Given the description of an element on the screen output the (x, y) to click on. 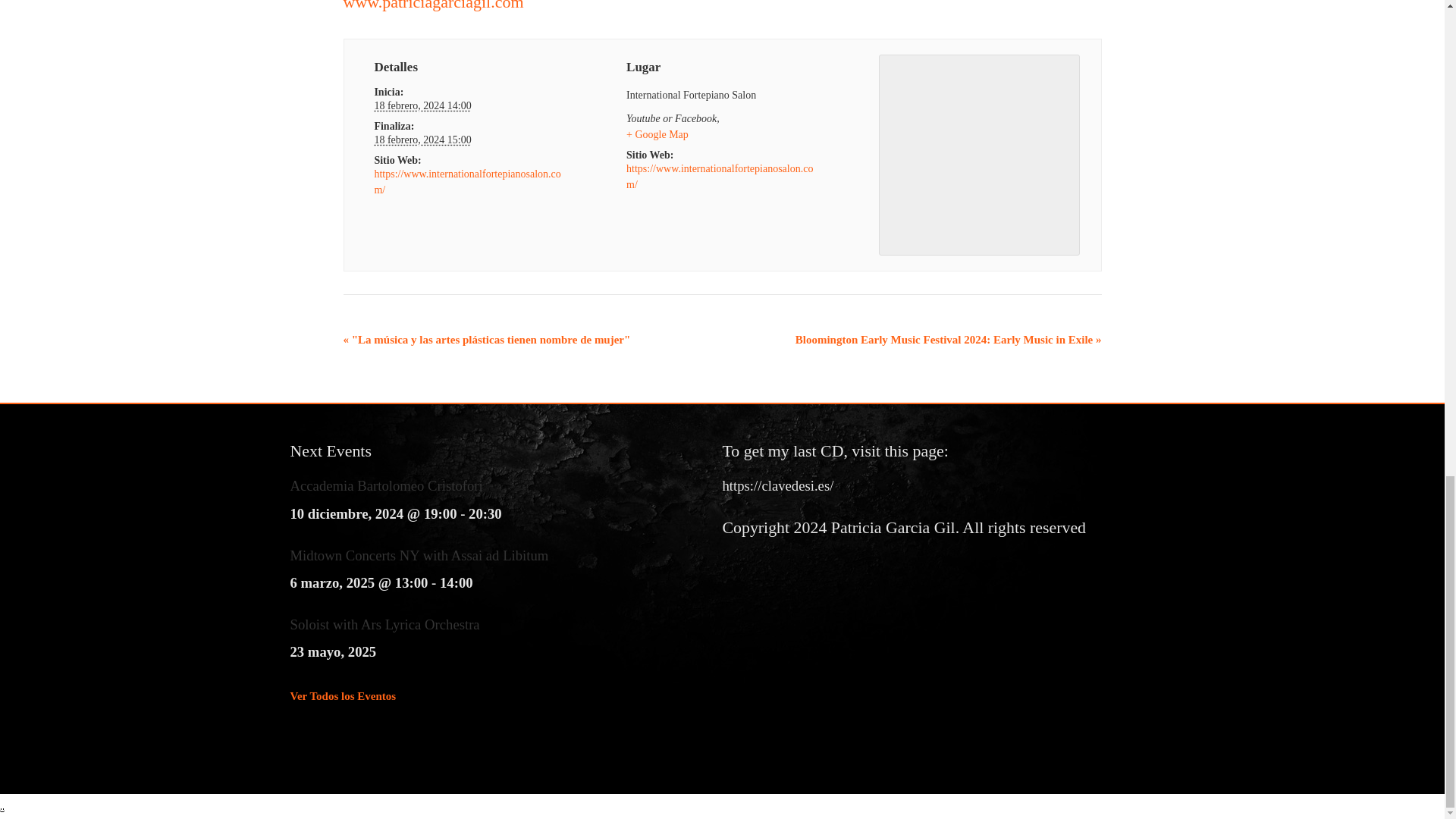
Ver Todos los Eventos (342, 695)
Accademia Bartolomeo Cristofori (385, 485)
2024-02-18 (422, 139)
2024-02-18 (422, 105)
www.patriciagarciagil.com (432, 5)
Soloist with Ars Lyrica Orchestra (384, 624)
Click para ver Mapa de Google (657, 134)
Midtown Concerts NY with Assai ad Libitum (418, 555)
